Given the description of an element on the screen output the (x, y) to click on. 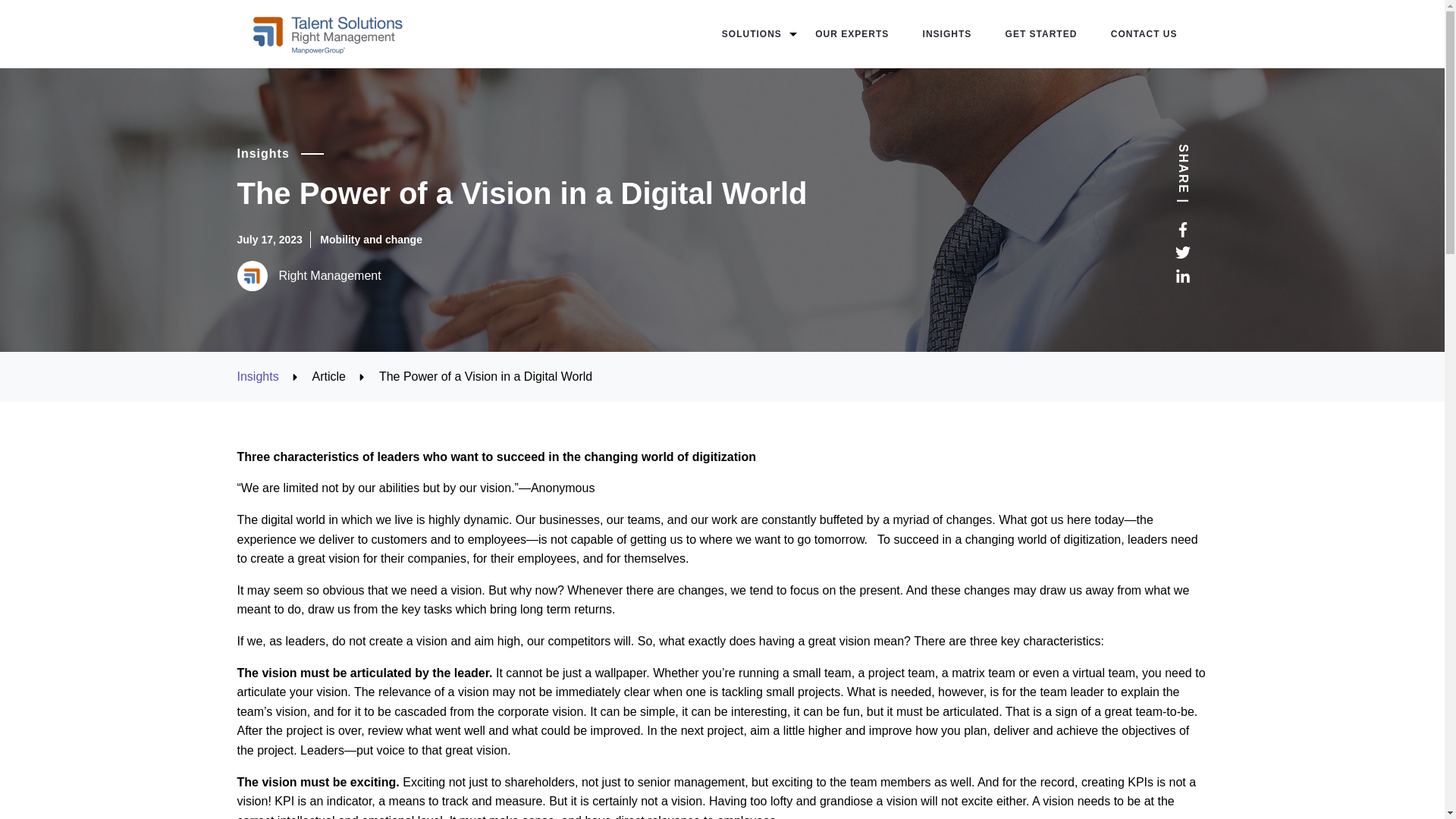
Insights (256, 376)
SOLUTIONS (751, 33)
CONTACT US (1143, 33)
INSIGHTS (947, 33)
GET STARTED (1041, 33)
OUR EXPERTS (851, 33)
Right Management (694, 275)
Right.com (327, 33)
Mobility and change (371, 239)
